Given the description of an element on the screen output the (x, y) to click on. 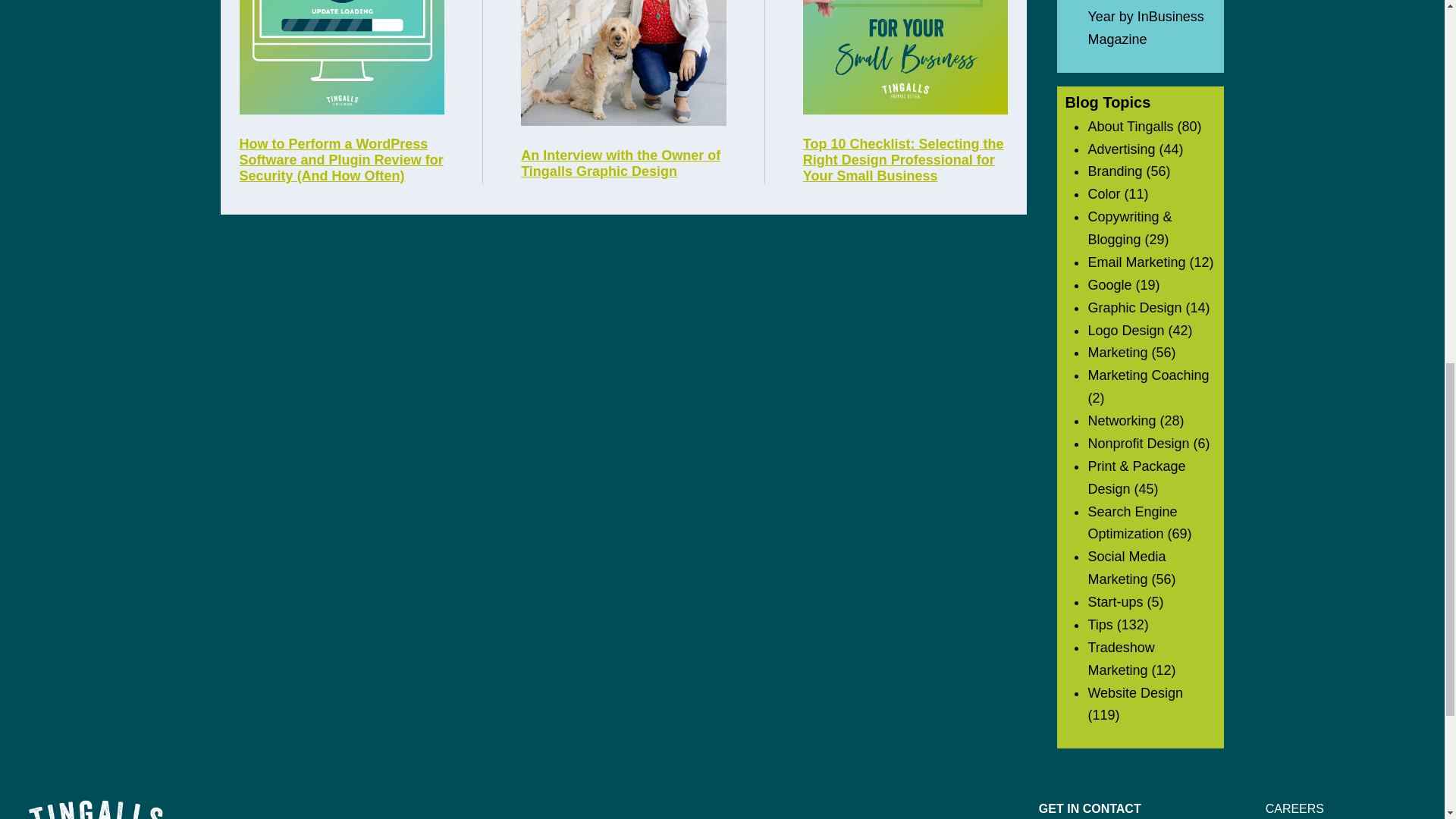
An Interview with the Owner of Tingalls Graphic Design (623, 163)
